Given the description of an element on the screen output the (x, y) to click on. 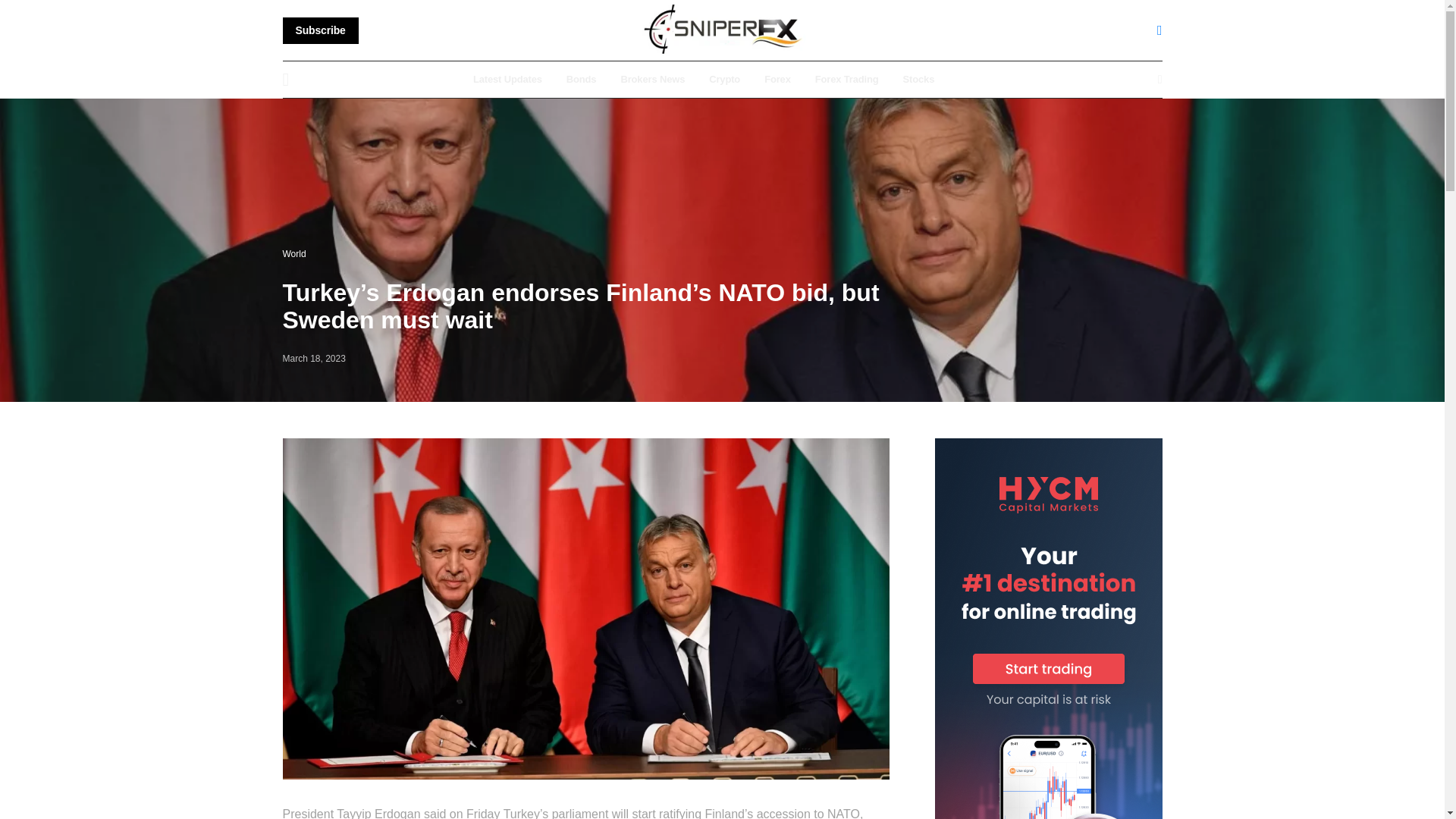
Subscribe (320, 29)
